Given the description of an element on the screen output the (x, y) to click on. 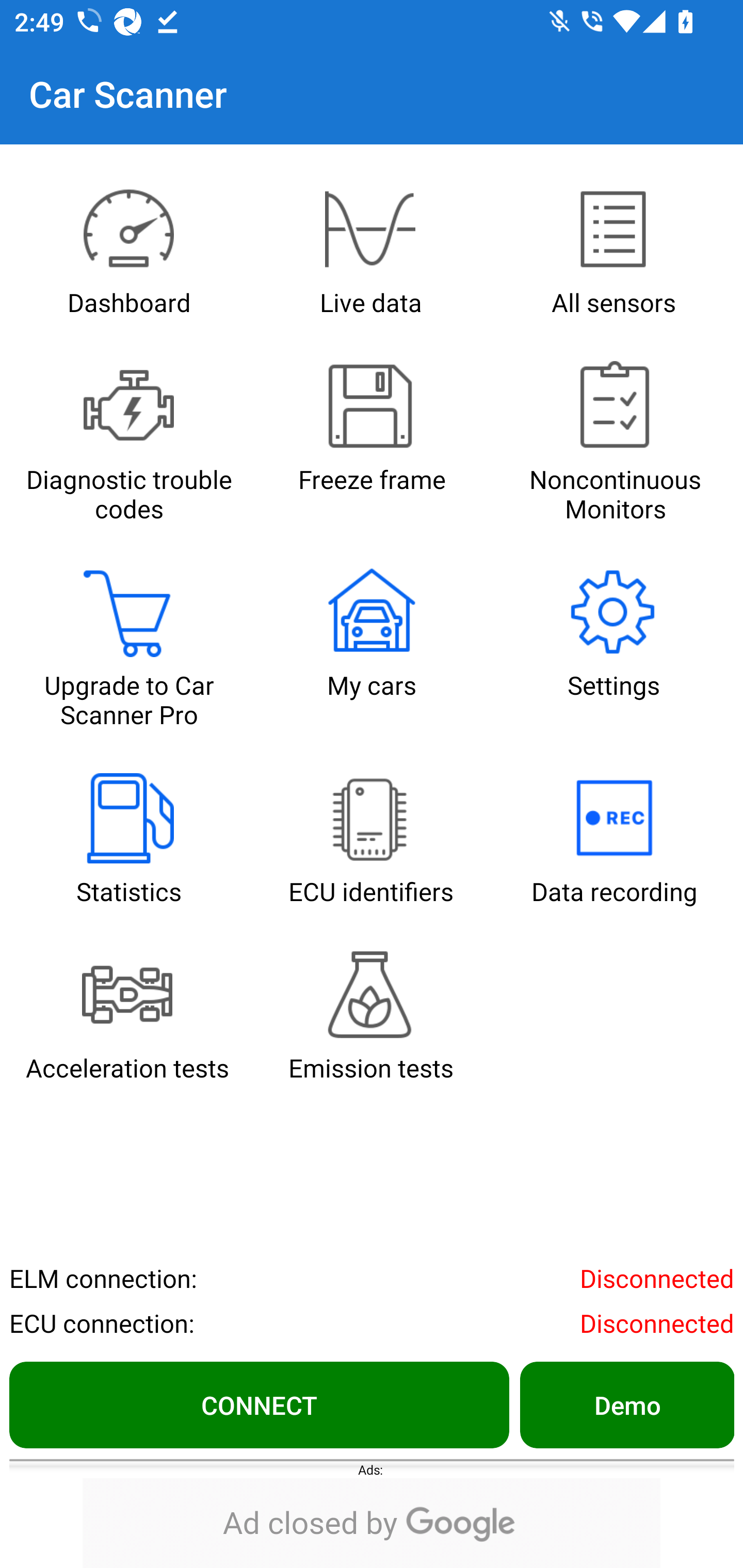
CONNECT (258, 1404)
Demo (627, 1404)
